Given the description of an element on the screen output the (x, y) to click on. 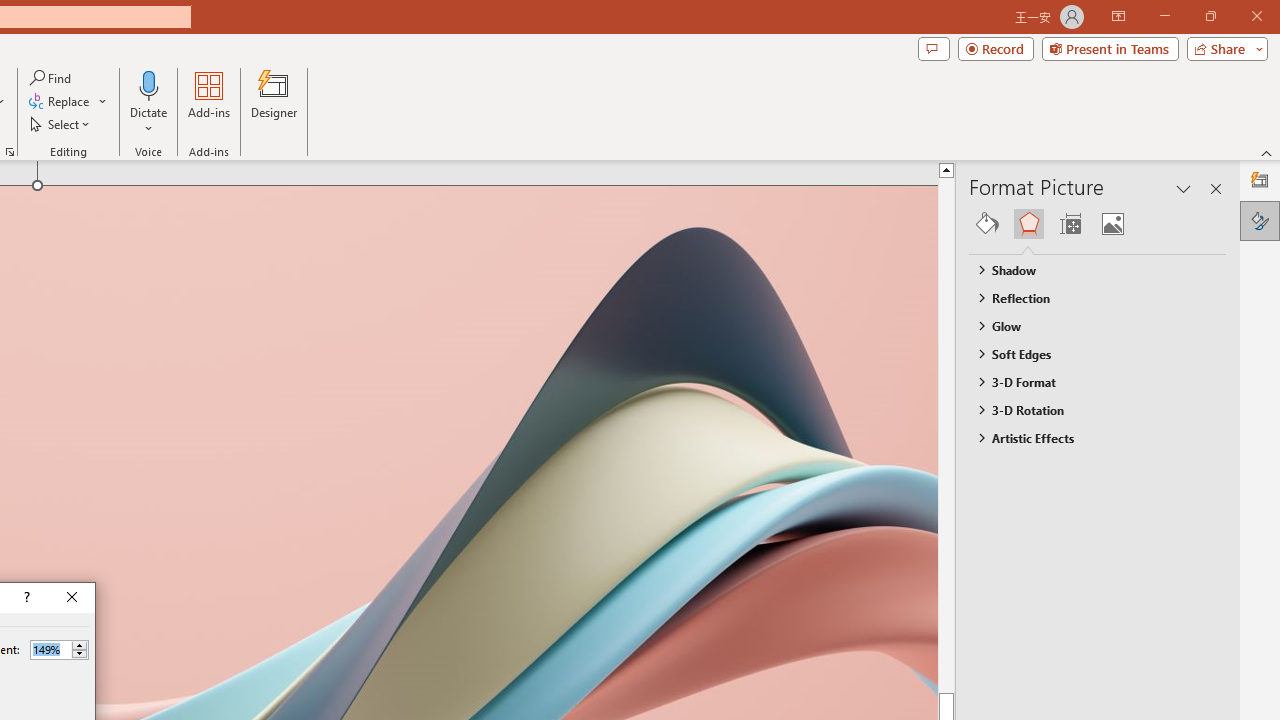
3-D Rotation (1088, 410)
Format Picture (1260, 220)
3-D Format (1088, 381)
Reflection (1088, 297)
